Given the description of an element on the screen output the (x, y) to click on. 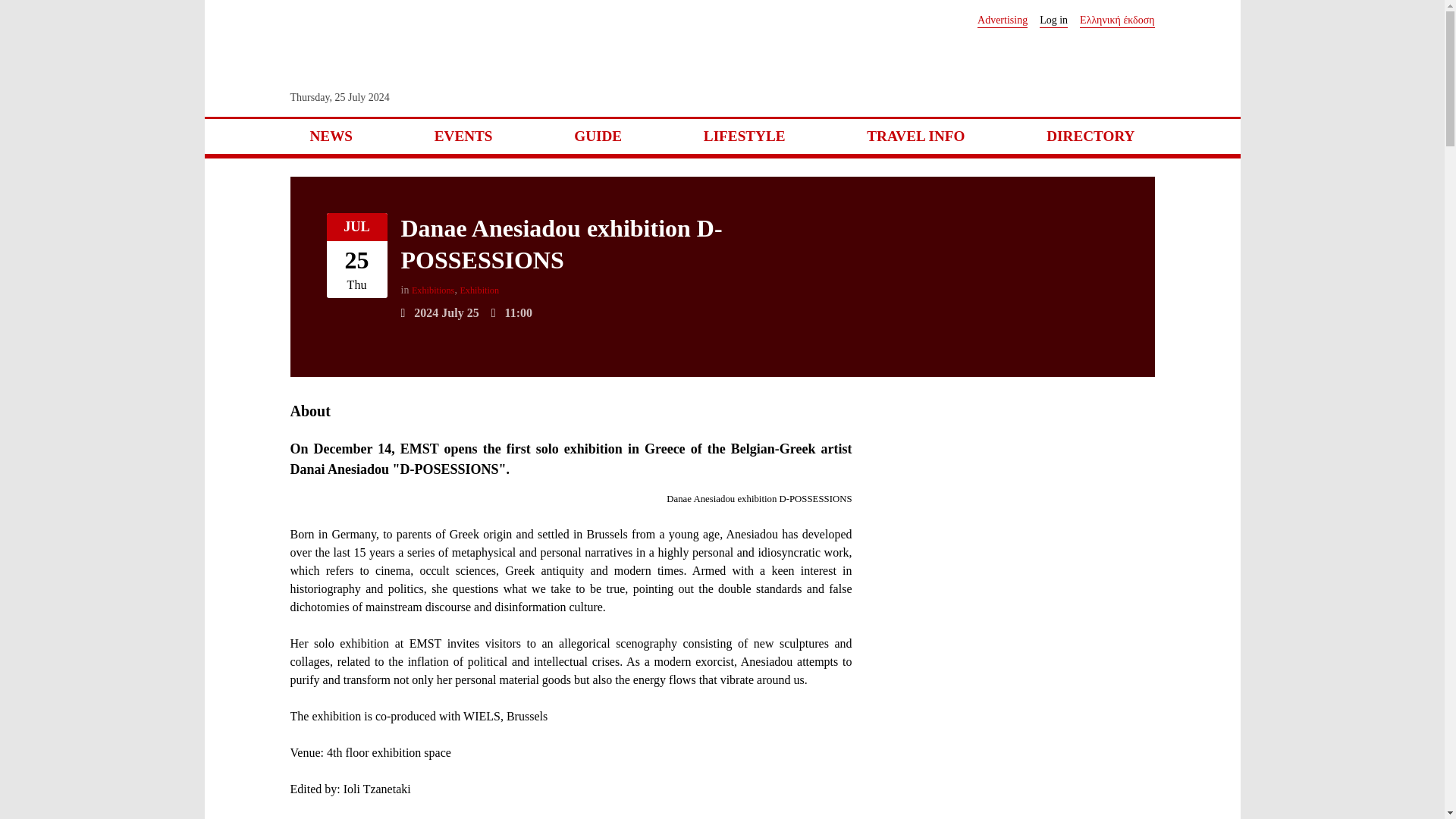
Advertising (1001, 20)
LIFESTYLE (744, 135)
NEWS (330, 135)
EVENTS (463, 135)
TRAVEL INFO (915, 135)
Log in (1053, 20)
GUIDE (598, 135)
